Given the description of an element on the screen output the (x, y) to click on. 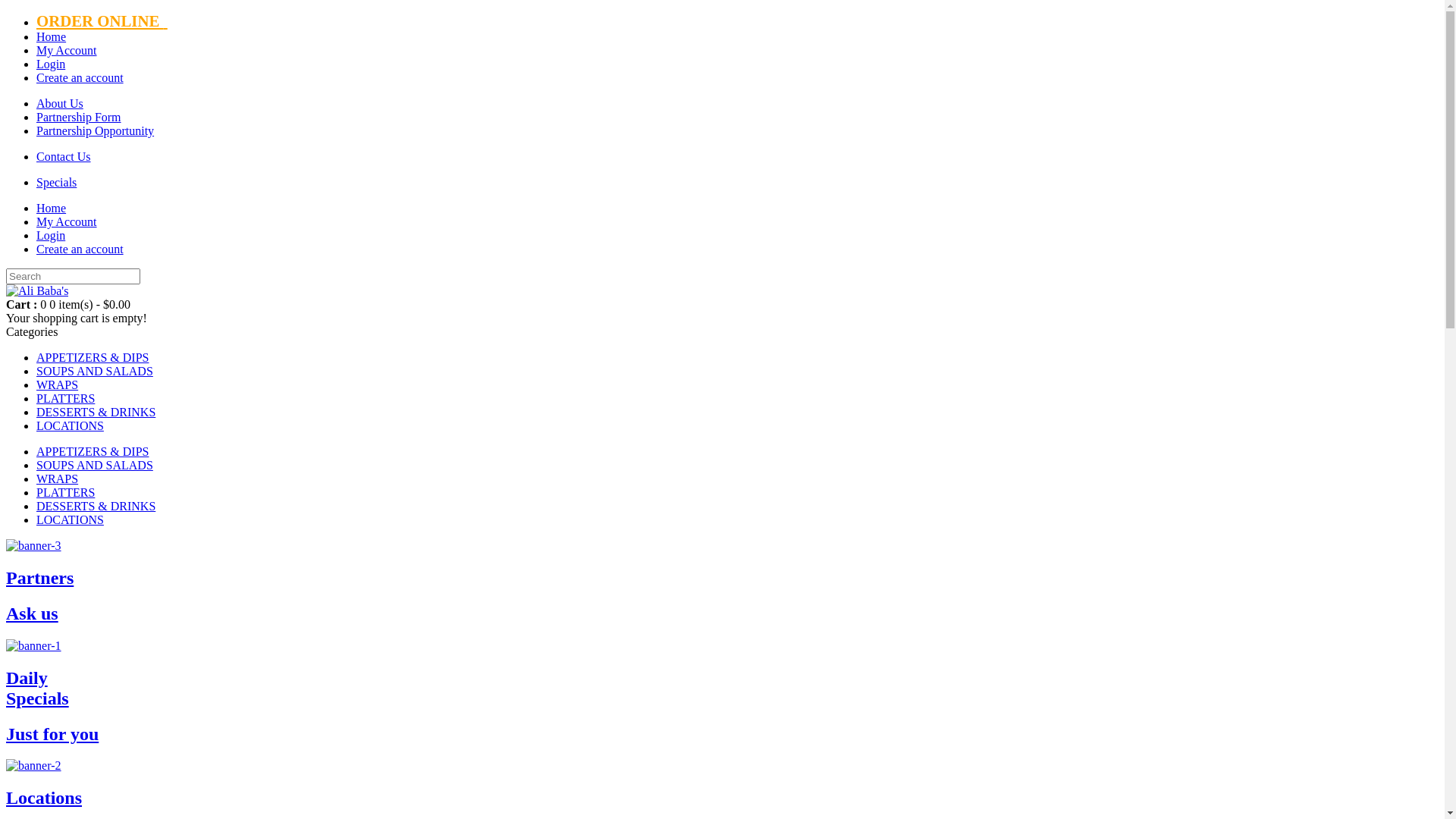
Ali Baba's Element type: hover (37, 291)
Partnership Opportunity Element type: text (94, 130)
Create an account Element type: text (79, 77)
Home Element type: text (50, 36)
banner-3 Element type: hover (33, 545)
My Account Element type: text (66, 221)
WRAPS Element type: text (57, 384)
My Account Element type: text (66, 49)
Daily
Specials
Just for you Element type: text (722, 691)
DESSERTS & DRINKS Element type: text (95, 505)
Login Element type: text (50, 235)
SOUPS AND SALADS Element type: text (94, 370)
APPETIZERS & DIPS Element type: text (92, 451)
Contact Us Element type: text (63, 156)
About Us Element type: text (59, 103)
LOCATIONS Element type: text (69, 519)
ORDER ONLINE   Element type: text (101, 20)
Home Element type: text (50, 207)
PLATTERS Element type: text (65, 492)
APPETIZERS & DIPS Element type: text (92, 357)
LOCATIONS Element type: text (69, 425)
Specials Element type: text (56, 181)
Create an account Element type: text (79, 248)
SOUPS AND SALADS Element type: text (94, 464)
Partners
Ask us Element type: text (722, 581)
WRAPS Element type: text (57, 478)
PLATTERS Element type: text (65, 398)
DESSERTS & DRINKS Element type: text (95, 411)
Login Element type: text (50, 63)
banner-2 Element type: hover (33, 765)
banner-1 Element type: hover (33, 645)
Partnership Form Element type: text (78, 116)
